Given the description of an element on the screen output the (x, y) to click on. 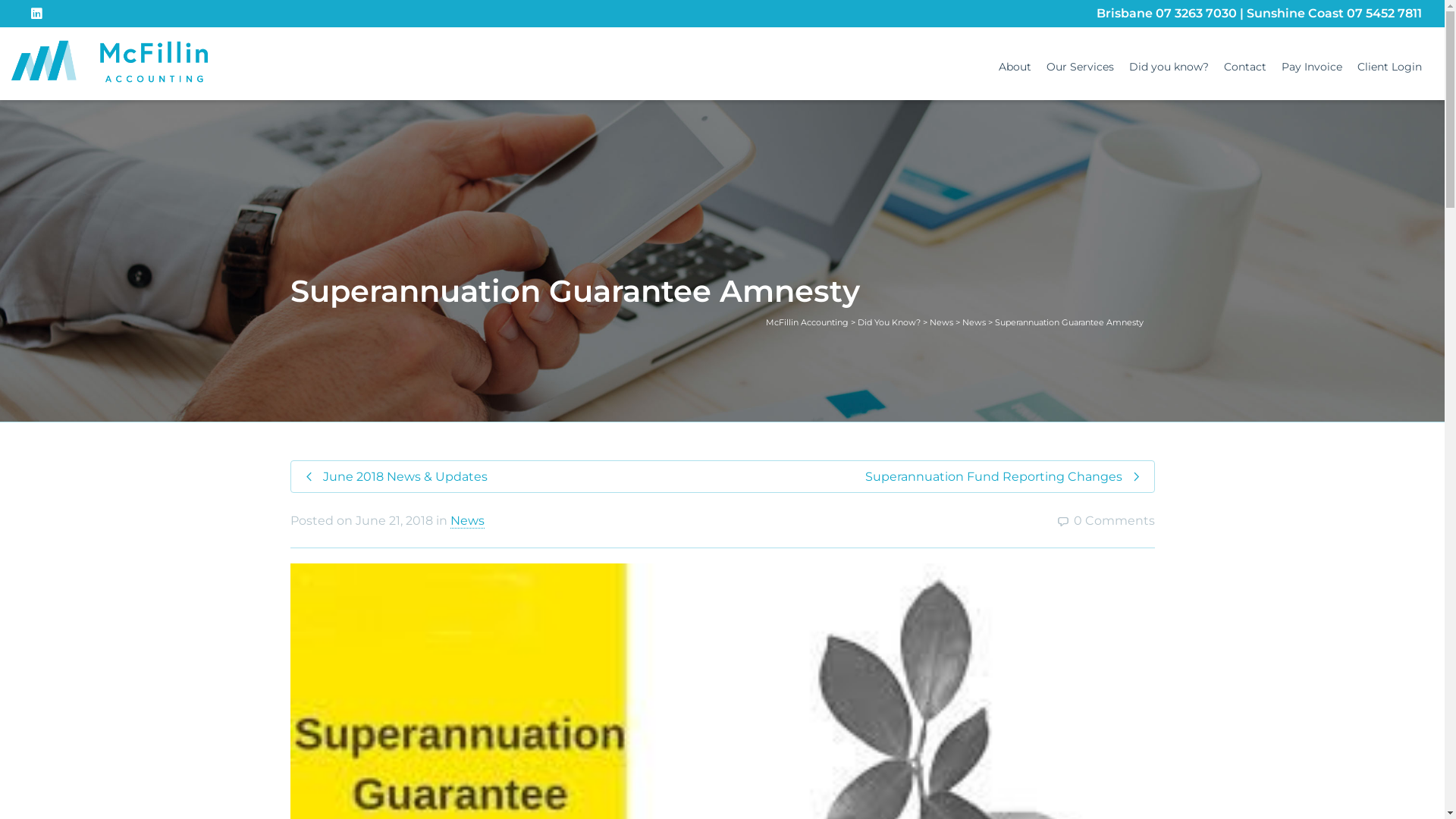
June 2018 News & Updates Element type: text (506, 476)
News Element type: text (973, 321)
Did you know? Element type: text (1168, 67)
0 Comments Element type: text (1104, 520)
News Element type: text (467, 520)
Superannuation Fund Reporting Changes Element type: text (937, 476)
McFillin Accounting Element type: text (806, 321)
Did You Know? Element type: text (887, 321)
Our Services Element type: text (1079, 67)
Contact Element type: text (1244, 67)
Client Login Element type: text (1389, 67)
News Element type: text (941, 321)
About Element type: text (1014, 67)
Pay Invoice Element type: text (1311, 67)
